Given the description of an element on the screen output the (x, y) to click on. 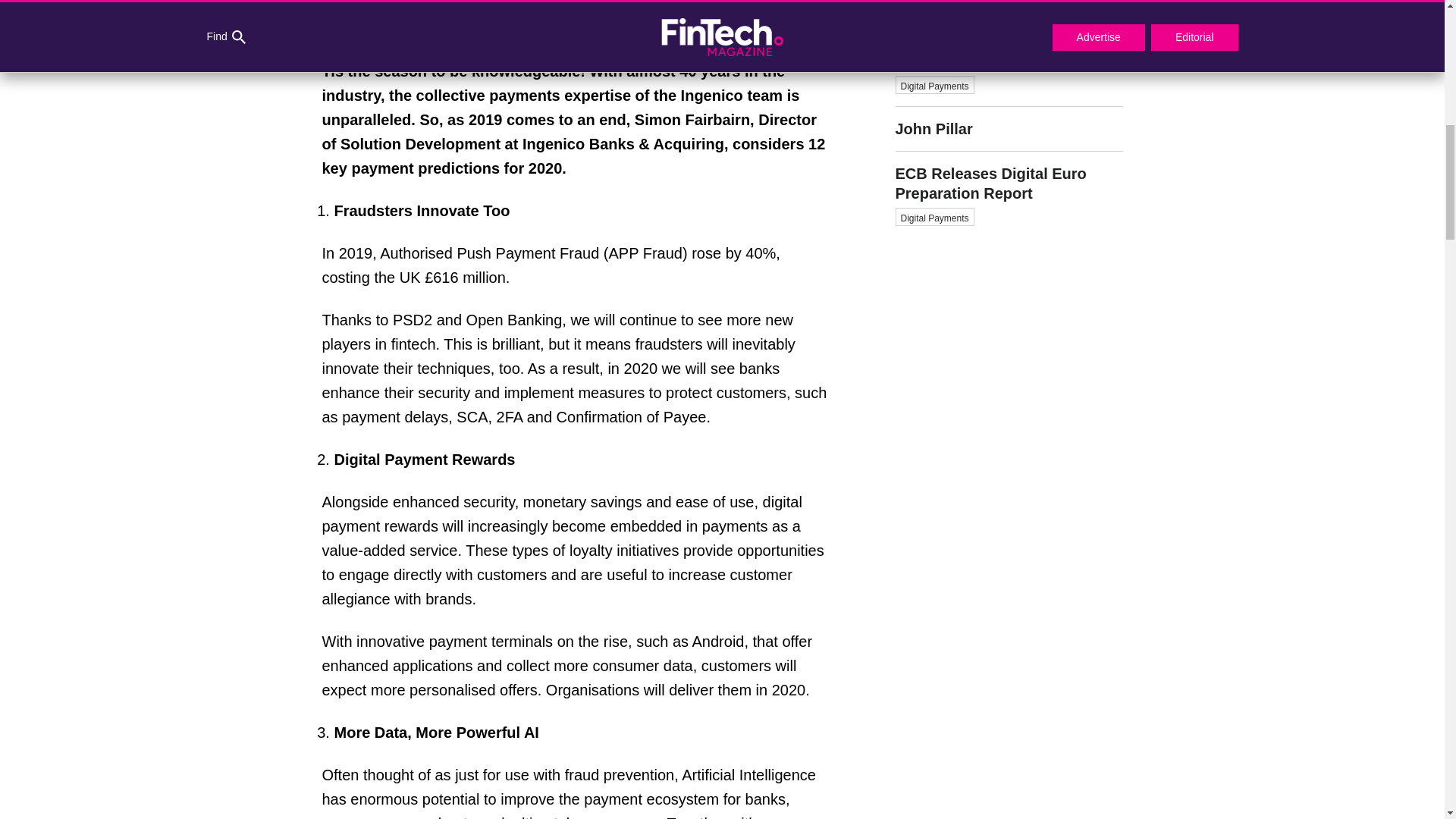
John Pillar (1008, 129)
